Given the description of an element on the screen output the (x, y) to click on. 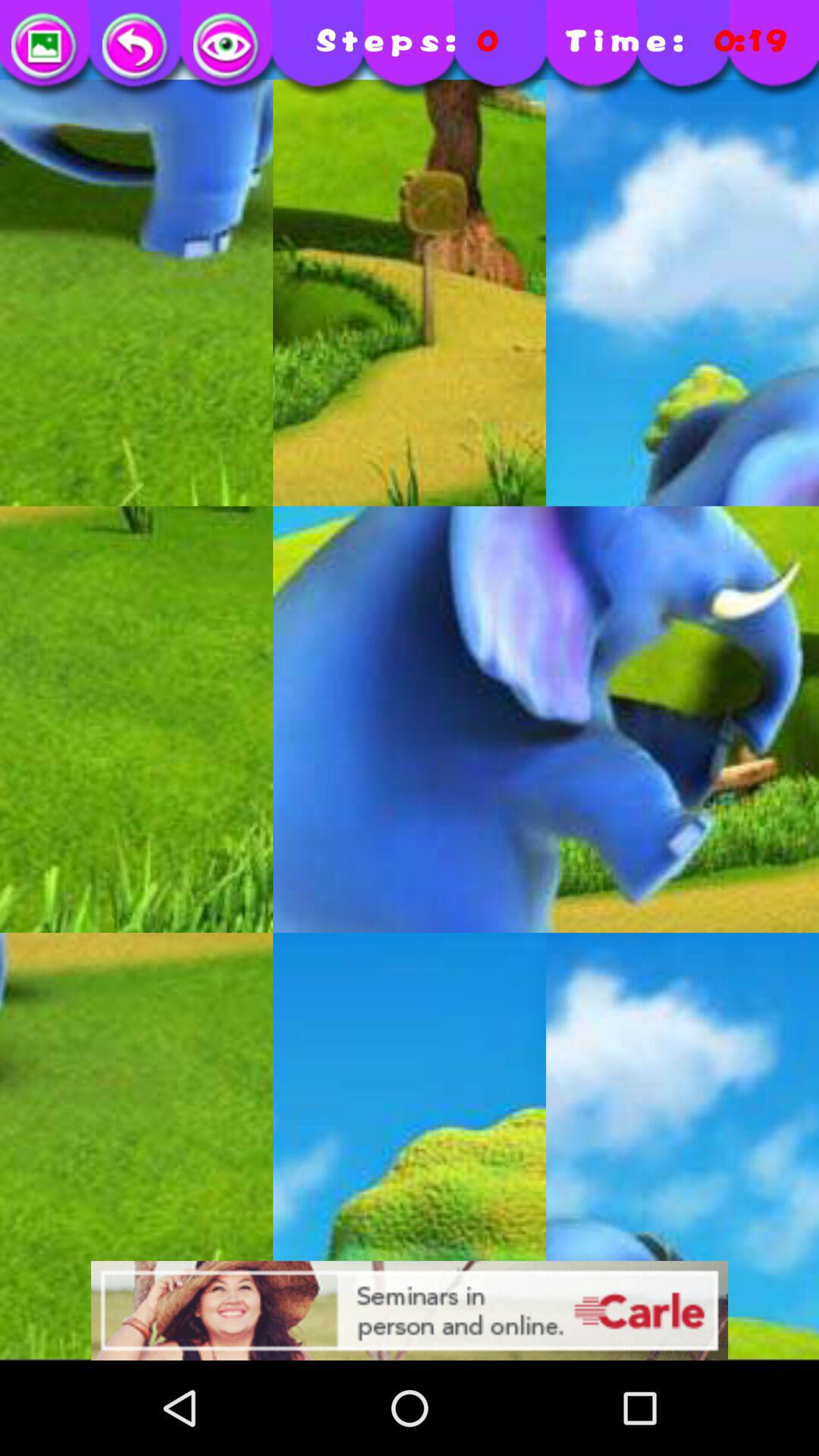
photos (45, 47)
